Given the description of an element on the screen output the (x, y) to click on. 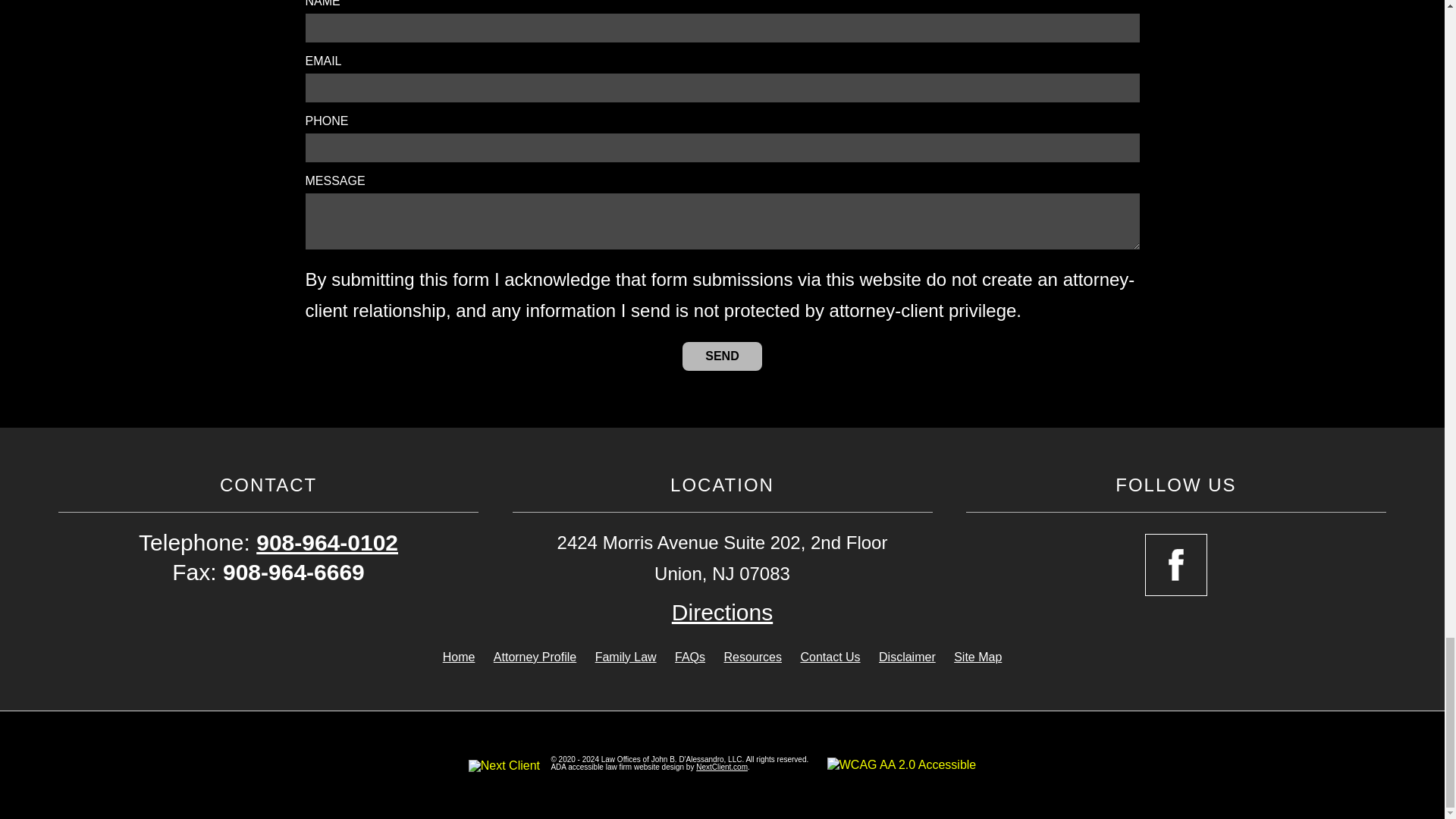
Open Google Map in a New Window (722, 612)
Open NextClient.com in a New Window (721, 766)
Open Facebook in a New Window (1175, 564)
Send (721, 356)
